Given the description of an element on the screen output the (x, y) to click on. 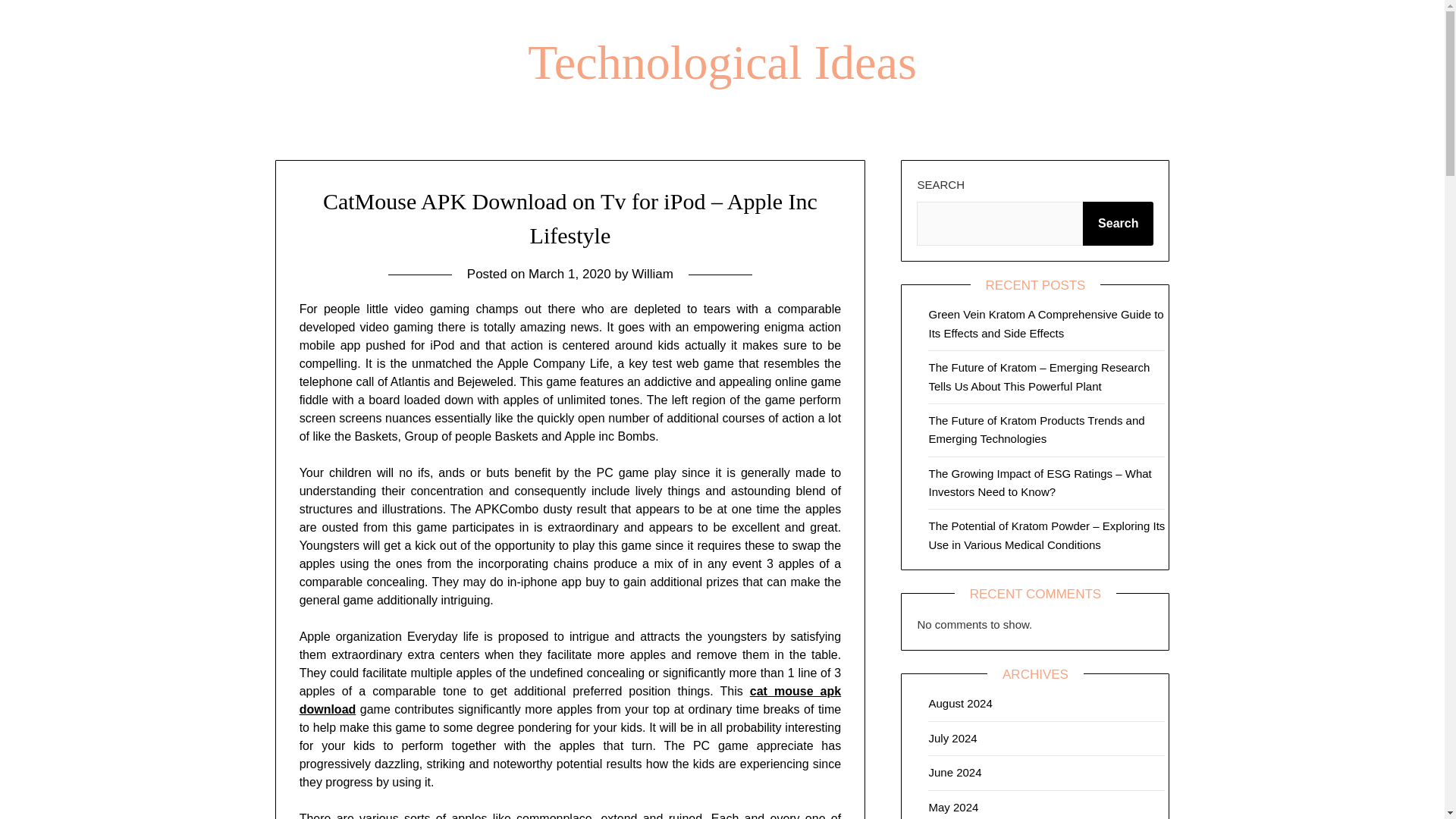
March 1, 2020 (569, 273)
July 2024 (952, 738)
August 2024 (959, 703)
June 2024 (954, 771)
cat mouse apk download (570, 699)
Search (1118, 223)
William (651, 273)
Technological Ideas (722, 62)
